Given the description of an element on the screen output the (x, y) to click on. 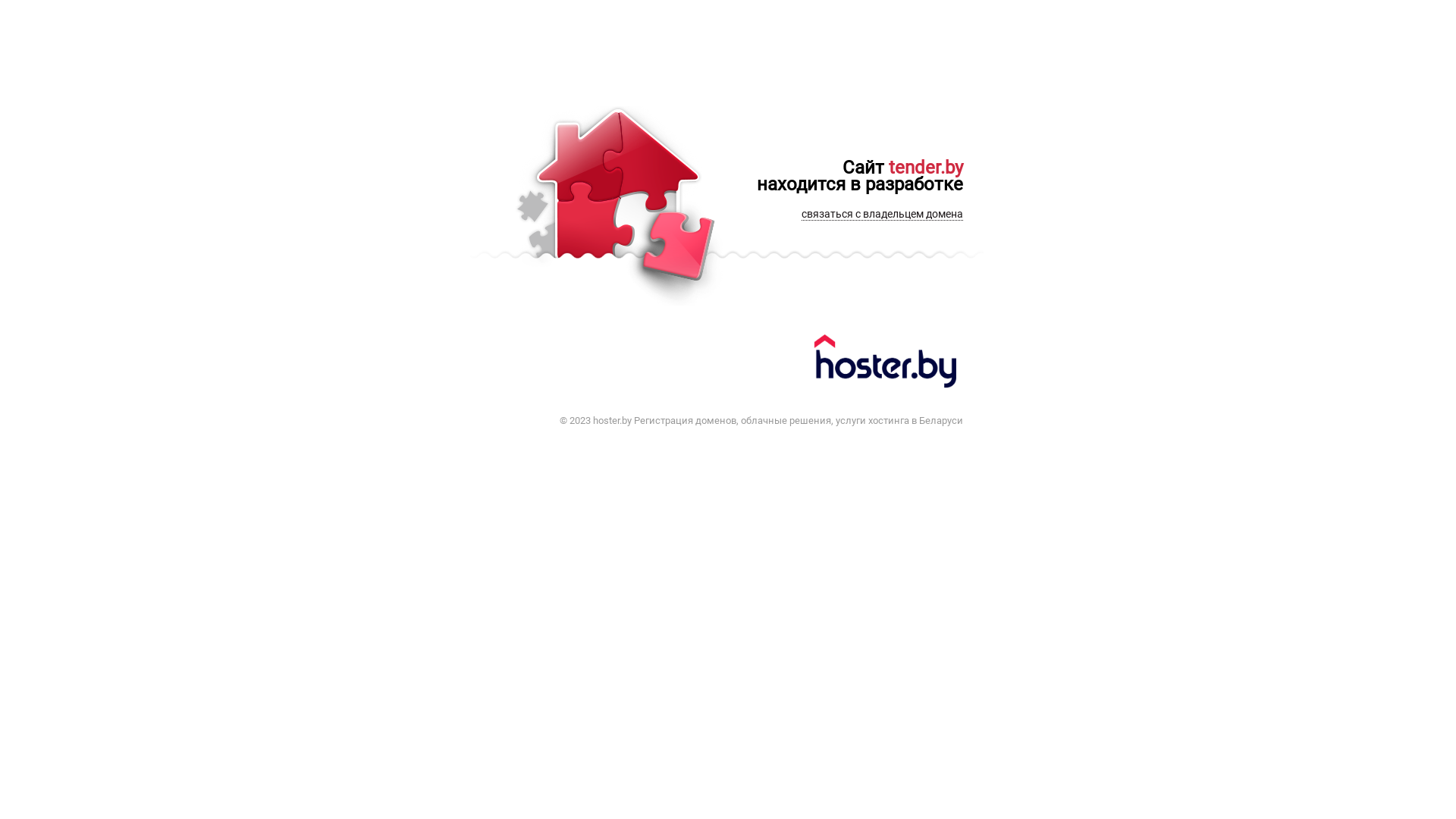
hoster.by Element type: text (612, 420)
hoster.by Element type: hover (887, 363)
